Given the description of an element on the screen output the (x, y) to click on. 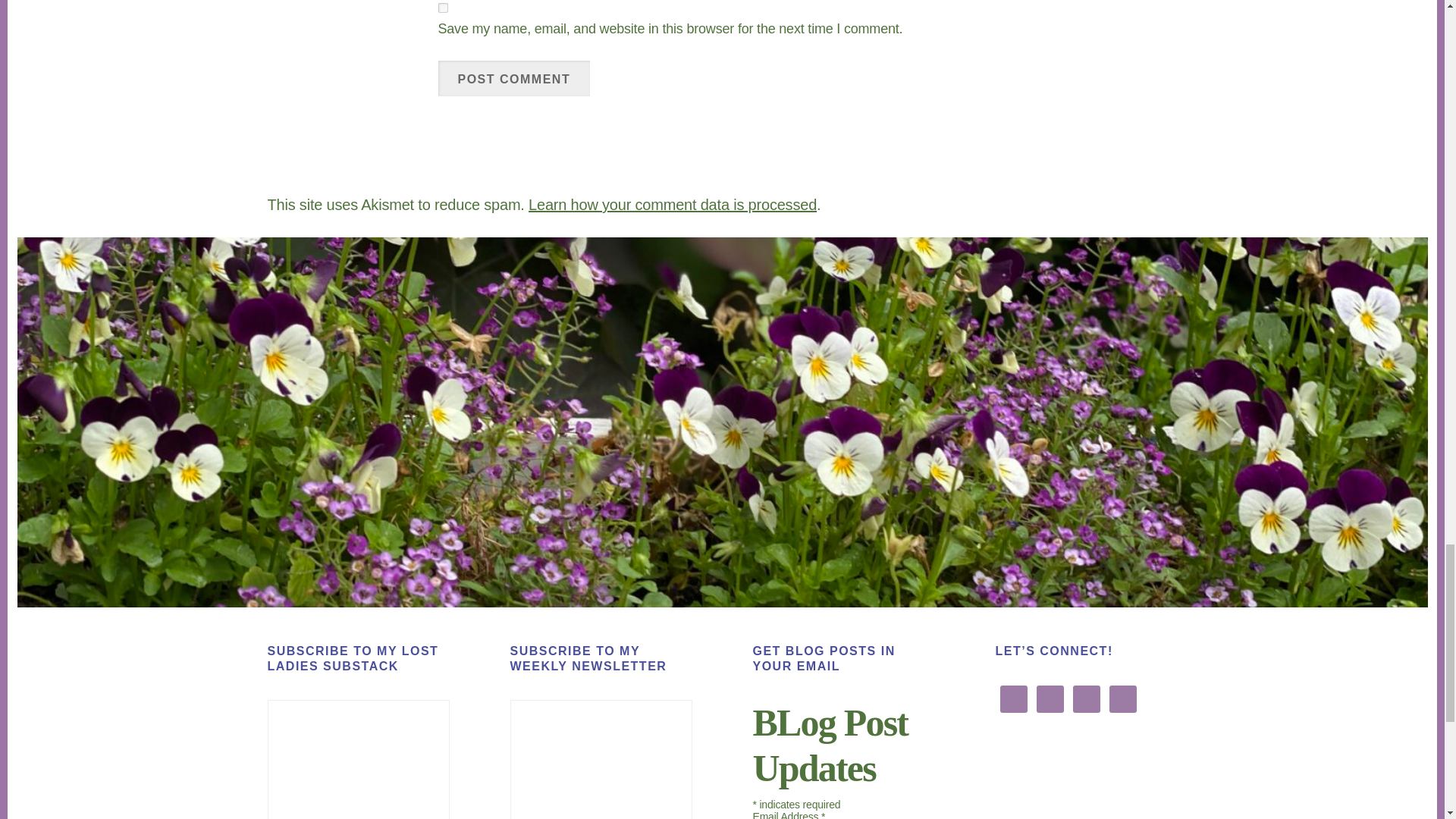
Post Comment (514, 78)
Post Comment (514, 78)
yes (443, 8)
Learn how your comment data is processed (672, 204)
